Given the description of an element on the screen output the (x, y) to click on. 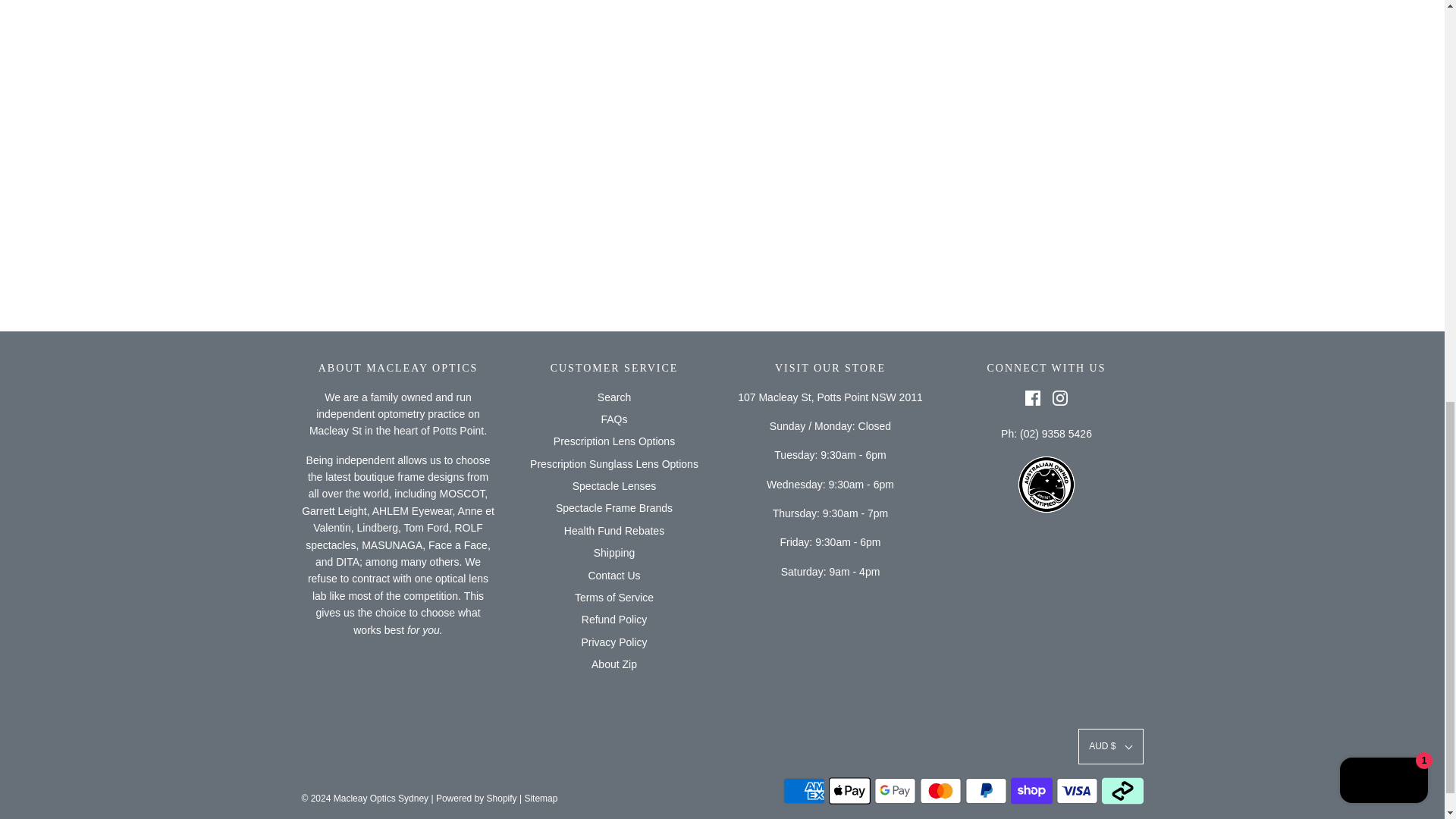
Google Pay (894, 790)
Apple Pay (848, 790)
Mastercard (939, 790)
Shop Pay (1030, 790)
Visa (1076, 790)
Instagram icon (1059, 397)
Facebook icon (1033, 397)
American Express (803, 790)
PayPal (984, 790)
